Given the description of an element on the screen output the (x, y) to click on. 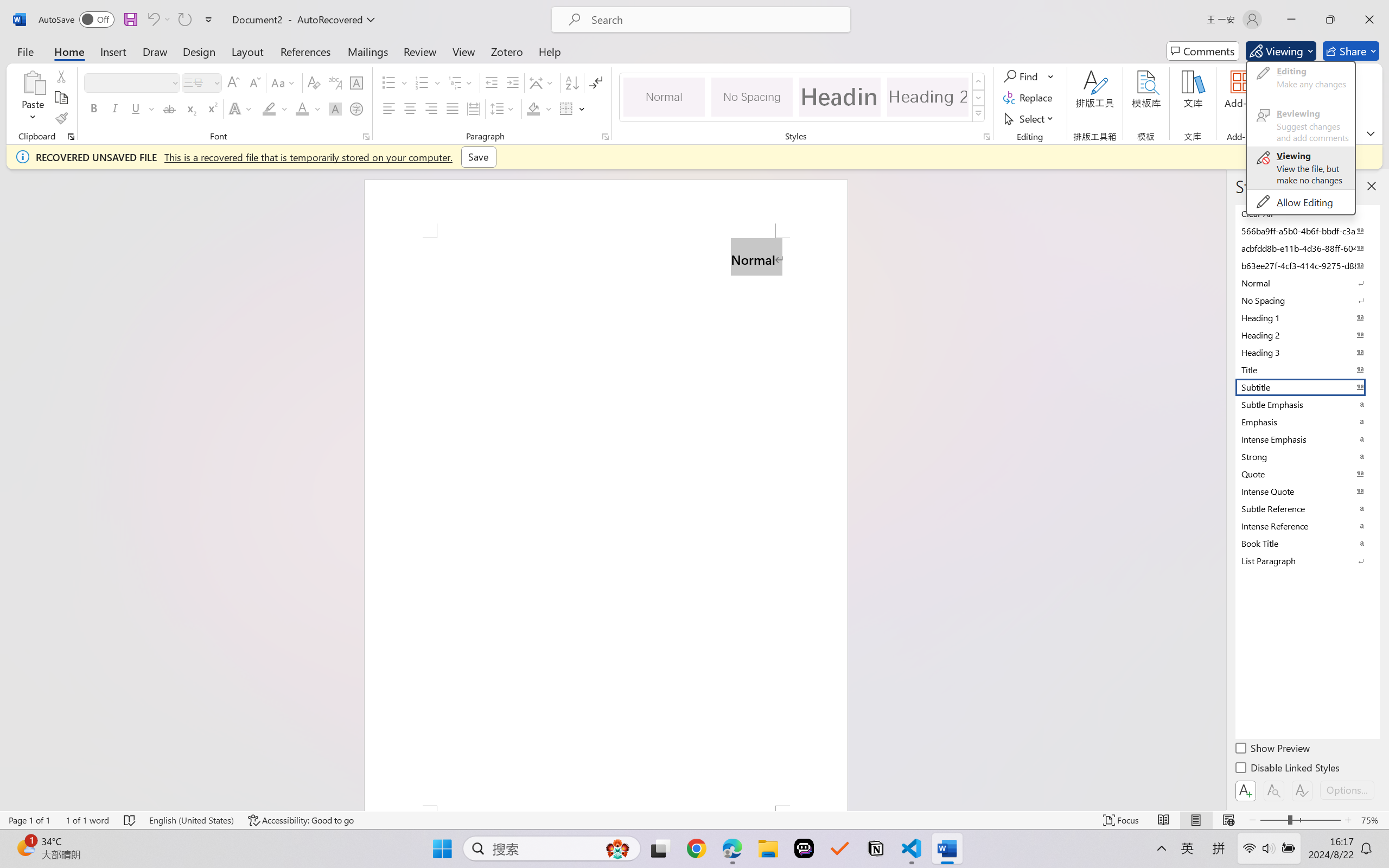
Strong (1306, 456)
Poe (804, 848)
Line and Paragraph Spacing (503, 108)
Heading 3 (1306, 352)
Open (215, 82)
Book Title (1306, 543)
Clear Formatting (313, 82)
Paragraph... (605, 136)
Google Chrome (696, 848)
Format Painter (60, 118)
